Given the description of an element on the screen output the (x, y) to click on. 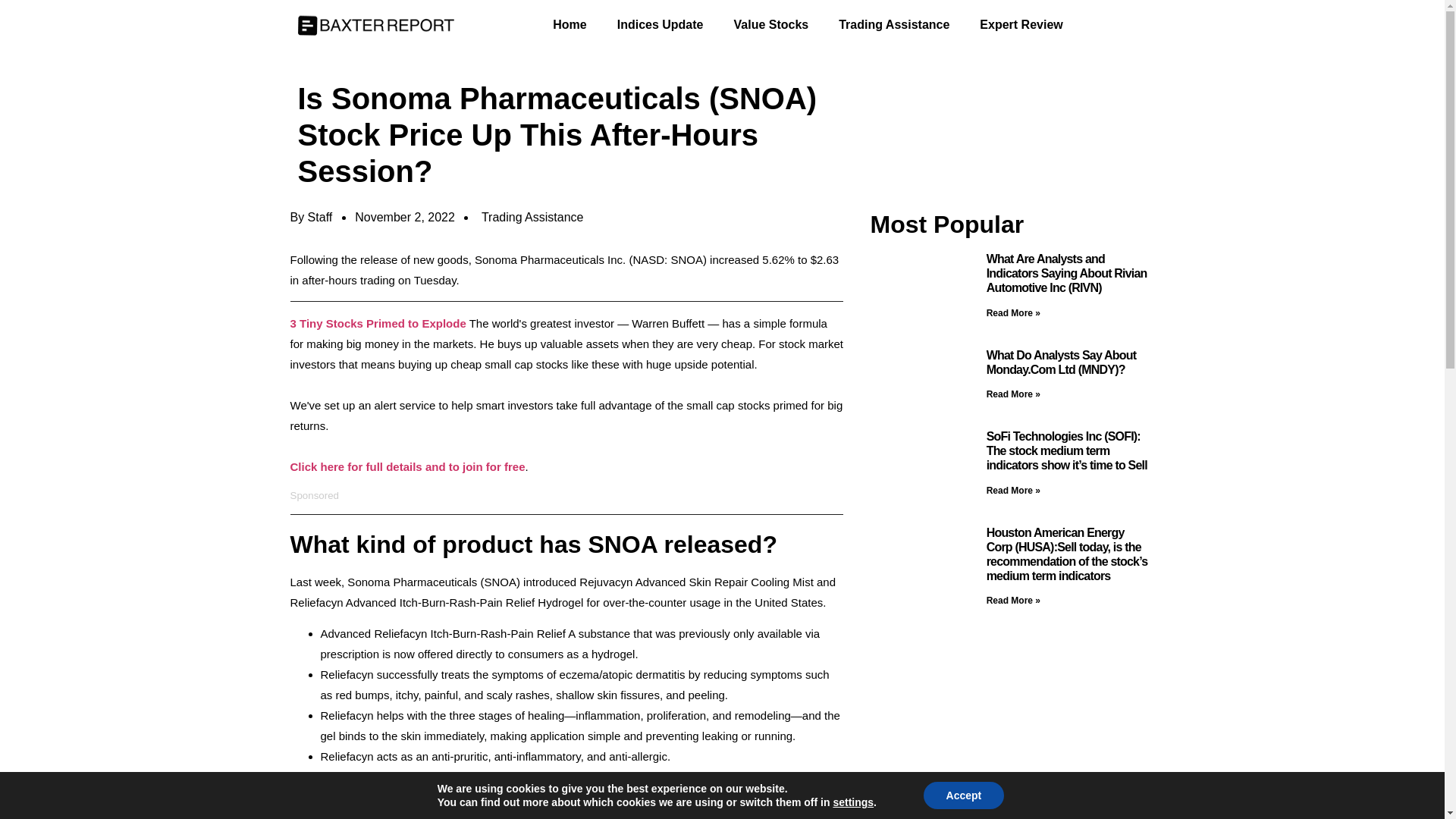
November 2, 2022 (404, 217)
Expert Review (1020, 24)
Trading Assistance (532, 216)
Trading Assistance (893, 24)
3 Tiny Stocks Primed to Explode (377, 323)
By Staff (310, 217)
Value Stocks (771, 24)
Click here for full details and to join for free (406, 466)
Indices Update (660, 24)
Home (569, 24)
